Given the description of an element on the screen output the (x, y) to click on. 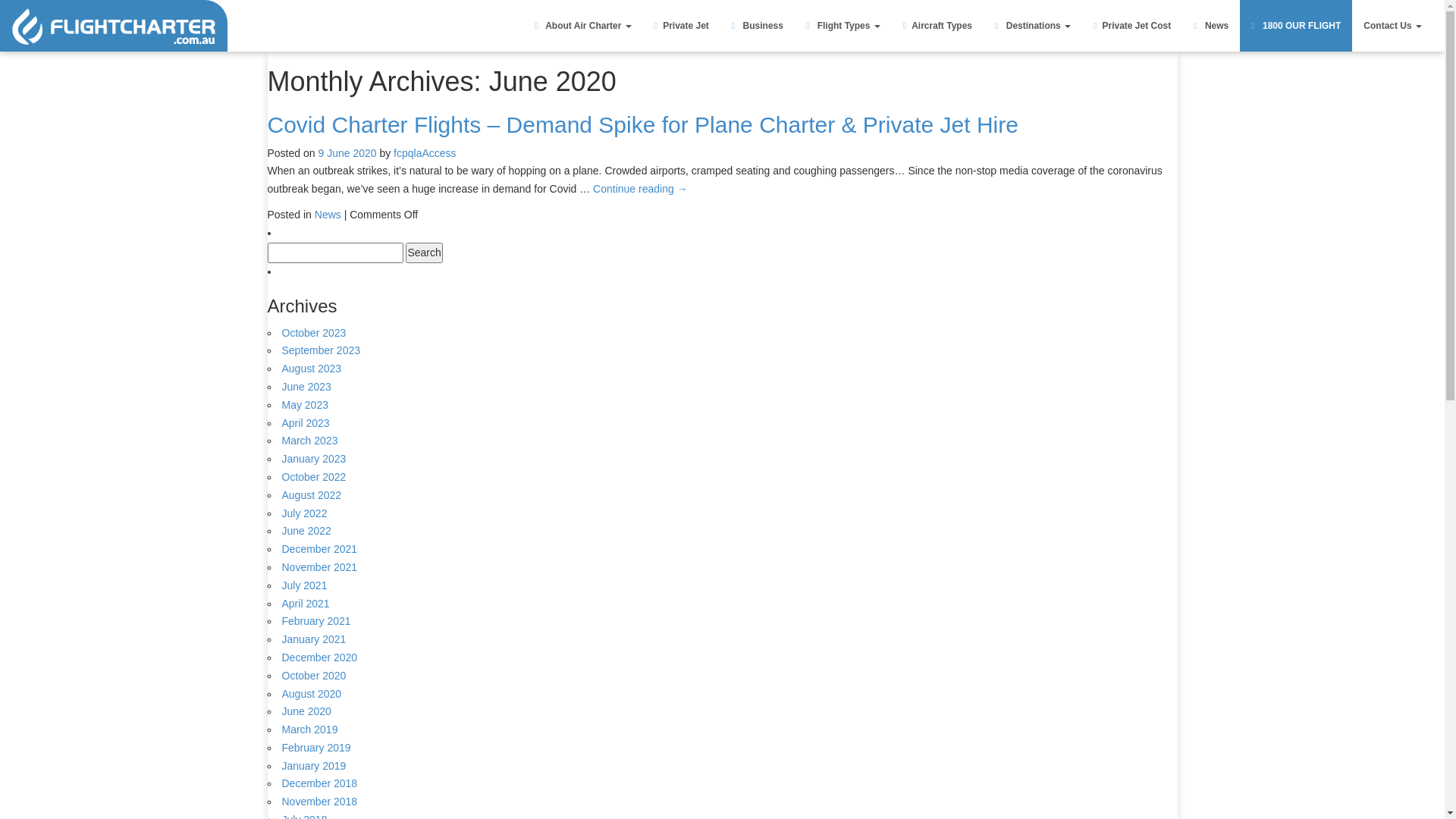
July 2021 Element type: text (304, 585)
Destinations Element type: text (1032, 25)
January 2021 Element type: text (314, 639)
January 2023 Element type: text (314, 458)
Aircraft Types Element type: text (937, 25)
June 2023 Element type: text (306, 386)
February 2019 Element type: text (316, 747)
March 2019 Element type: text (310, 729)
August 2022 Element type: text (312, 495)
October 2022 Element type: text (314, 476)
Private Jet Element type: text (681, 25)
November 2018 Element type: text (319, 801)
December 2020 Element type: text (319, 657)
Search Element type: text (423, 252)
fcpqlaAccess Element type: text (424, 153)
November 2021 Element type: text (319, 567)
News Element type: text (1210, 25)
News Element type: text (327, 214)
August 2020 Element type: text (312, 693)
September 2023 Element type: text (321, 350)
9 June 2020 Element type: text (346, 153)
Private Jet Cost Element type: text (1132, 25)
October 2023 Element type: text (314, 332)
1800 OUR FLIGHT Element type: text (1295, 25)
December 2021 Element type: text (319, 548)
February 2021 Element type: text (316, 621)
July 2022 Element type: text (304, 513)
January 2019 Element type: text (314, 765)
October 2020 Element type: text (314, 675)
May 2023 Element type: text (305, 404)
April 2023 Element type: text (305, 423)
About Air Charter Element type: text (583, 25)
Contact Us Element type: text (1392, 25)
March 2023 Element type: text (310, 440)
Flight Types Element type: text (842, 25)
December 2018 Element type: text (319, 783)
August 2023 Element type: text (312, 368)
June 2022 Element type: text (306, 530)
June 2020 Element type: text (306, 711)
April 2021 Element type: text (305, 603)
Business Element type: text (757, 25)
